Given the description of an element on the screen output the (x, y) to click on. 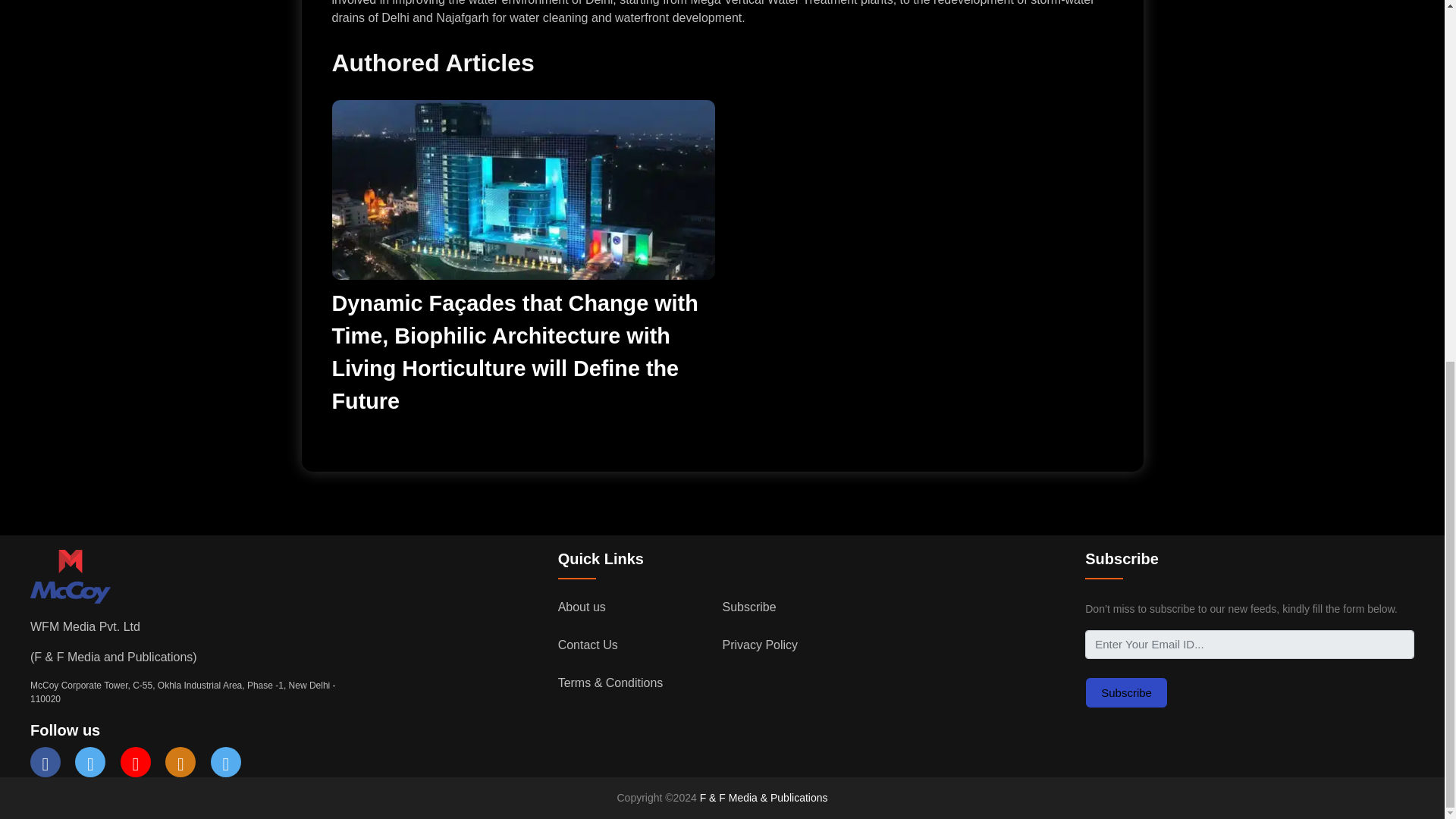
Subscribe (1125, 692)
